Given the description of an element on the screen output the (x, y) to click on. 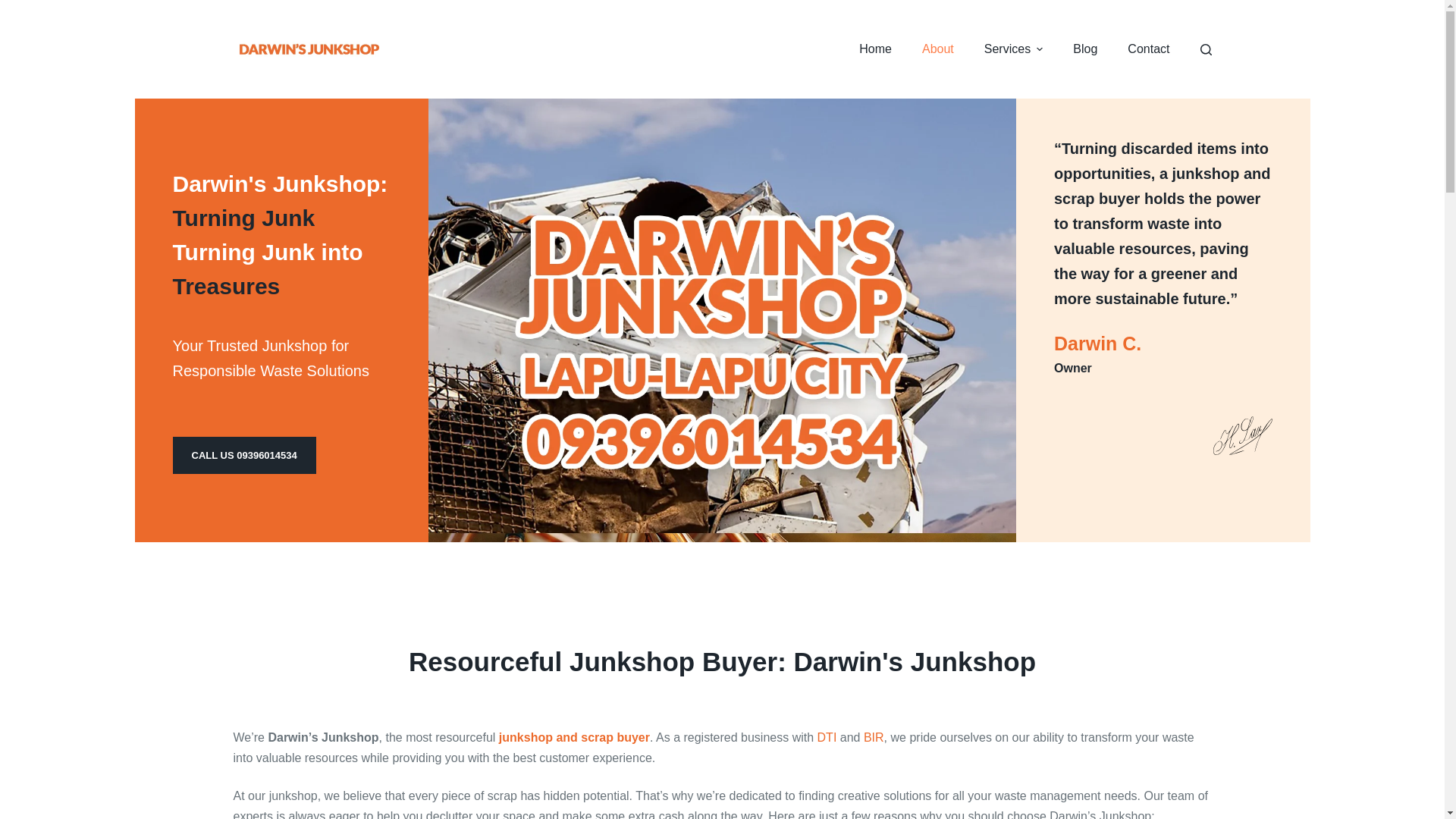
CALL US 09396014534 (244, 455)
junkshop and scrap buyer (572, 737)
DTI (826, 737)
Skip to content (15, 7)
BIR (873, 737)
Services (1013, 49)
